Given the description of an element on the screen output the (x, y) to click on. 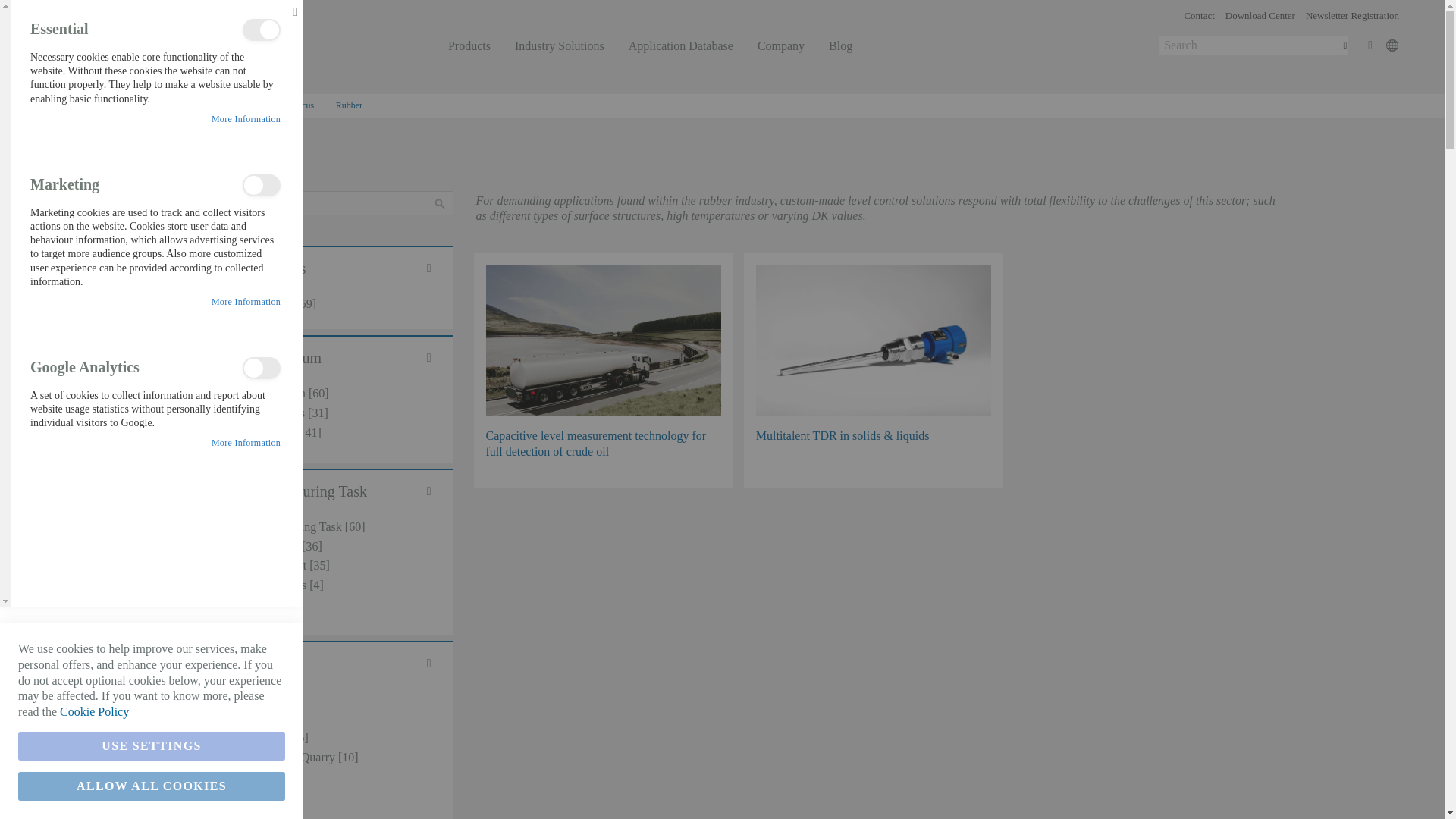
Visualization (314, 605)
Case Studies Measuring Task (314, 527)
Interface Applications (314, 585)
Solutions For Liquids (314, 413)
Blog (229, 104)
Industry Focus (287, 104)
Case Studies Medium (314, 393)
Products (469, 45)
Company (781, 45)
Content Measurement (314, 565)
Application Database (680, 45)
Industry Solutions (559, 45)
Solutions For Solids (314, 433)
Application Stories (314, 304)
